Given the description of an element on the screen output the (x, y) to click on. 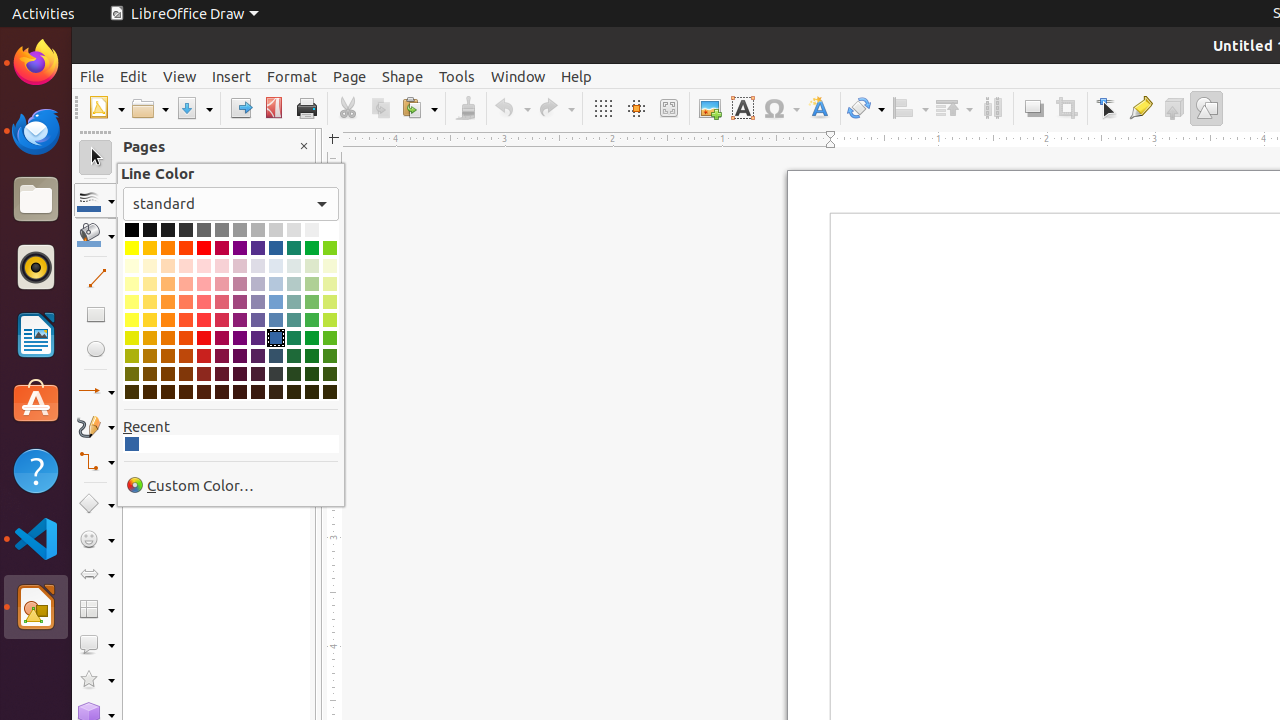
Select Element type: push-button (95, 157)
Close Pane Element type: push-button (303, 146)
Edit Element type: menu (133, 76)
Dark Blue 4 Element type: list-item (276, 392)
Clone Element type: push-button (465, 108)
